Given the description of an element on the screen output the (x, y) to click on. 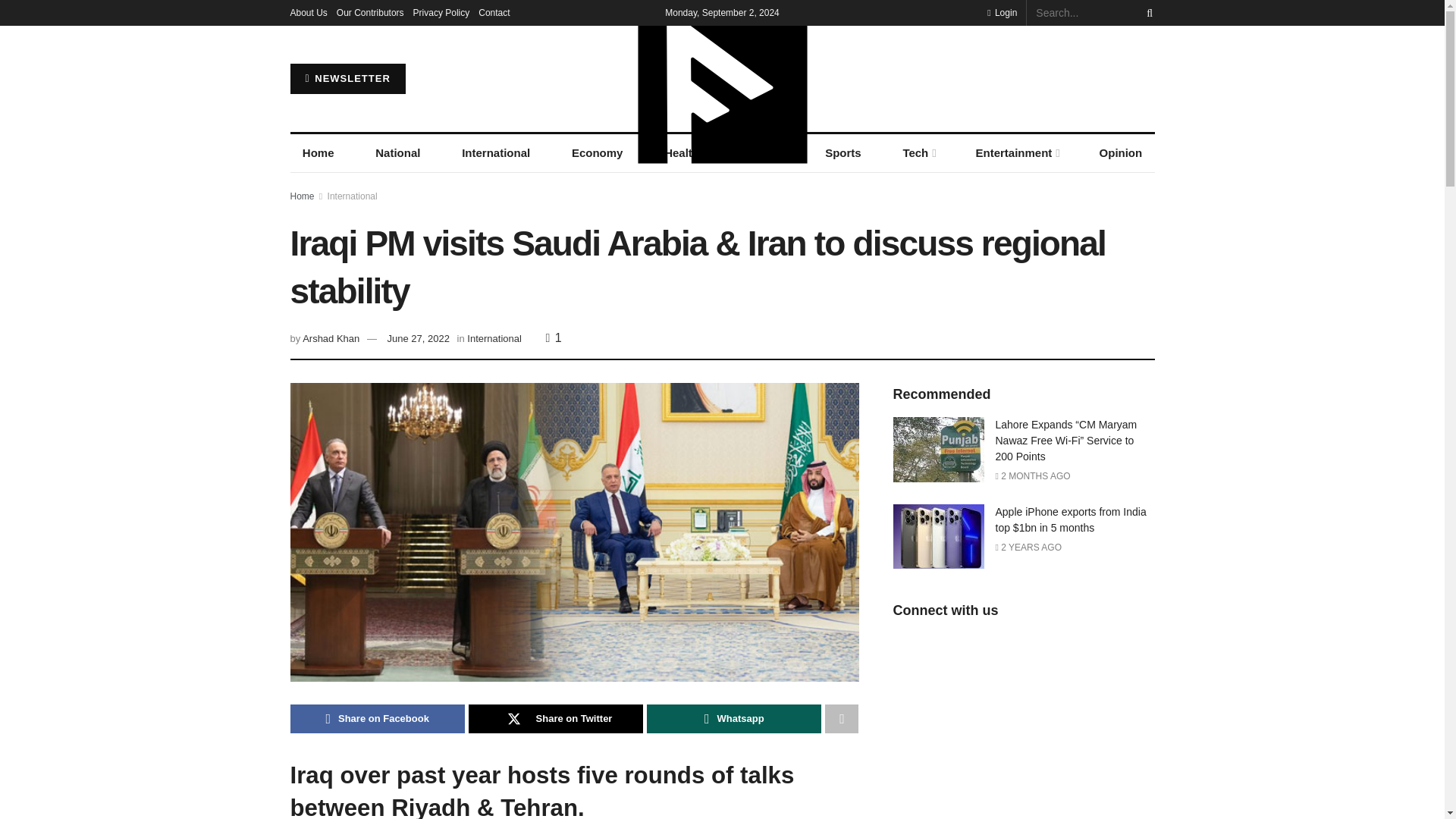
Our Contributors (370, 12)
Science (761, 152)
Tech (917, 152)
National (397, 152)
Contact (494, 12)
NEWSLETTER (346, 78)
Health (681, 152)
Sports (842, 152)
Economy (596, 152)
International (496, 152)
